Given the description of an element on the screen output the (x, y) to click on. 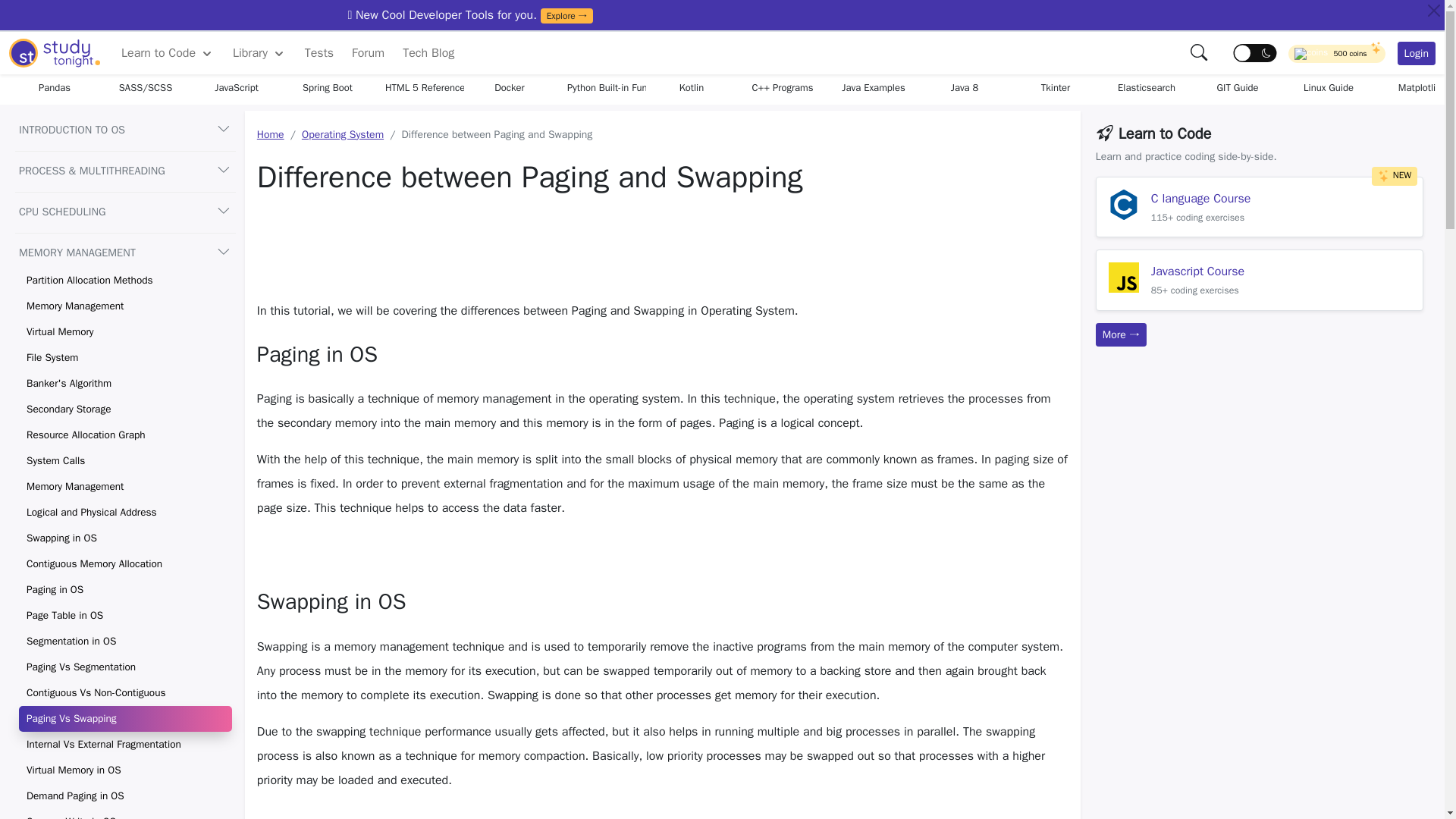
Kotlin (691, 87)
Pandas (54, 87)
Spring Boot (327, 87)
GIT Guide (1237, 87)
Java Examples (873, 87)
JavaScript (236, 87)
Elasticsearch (1146, 87)
Search Studytonight (1200, 52)
Linux Guide (1328, 87)
Tkinter (1055, 87)
Python Built-in Functions (600, 87)
Java 8 (964, 87)
HTML 5 References (418, 87)
Docker (509, 87)
